Given the description of an element on the screen output the (x, y) to click on. 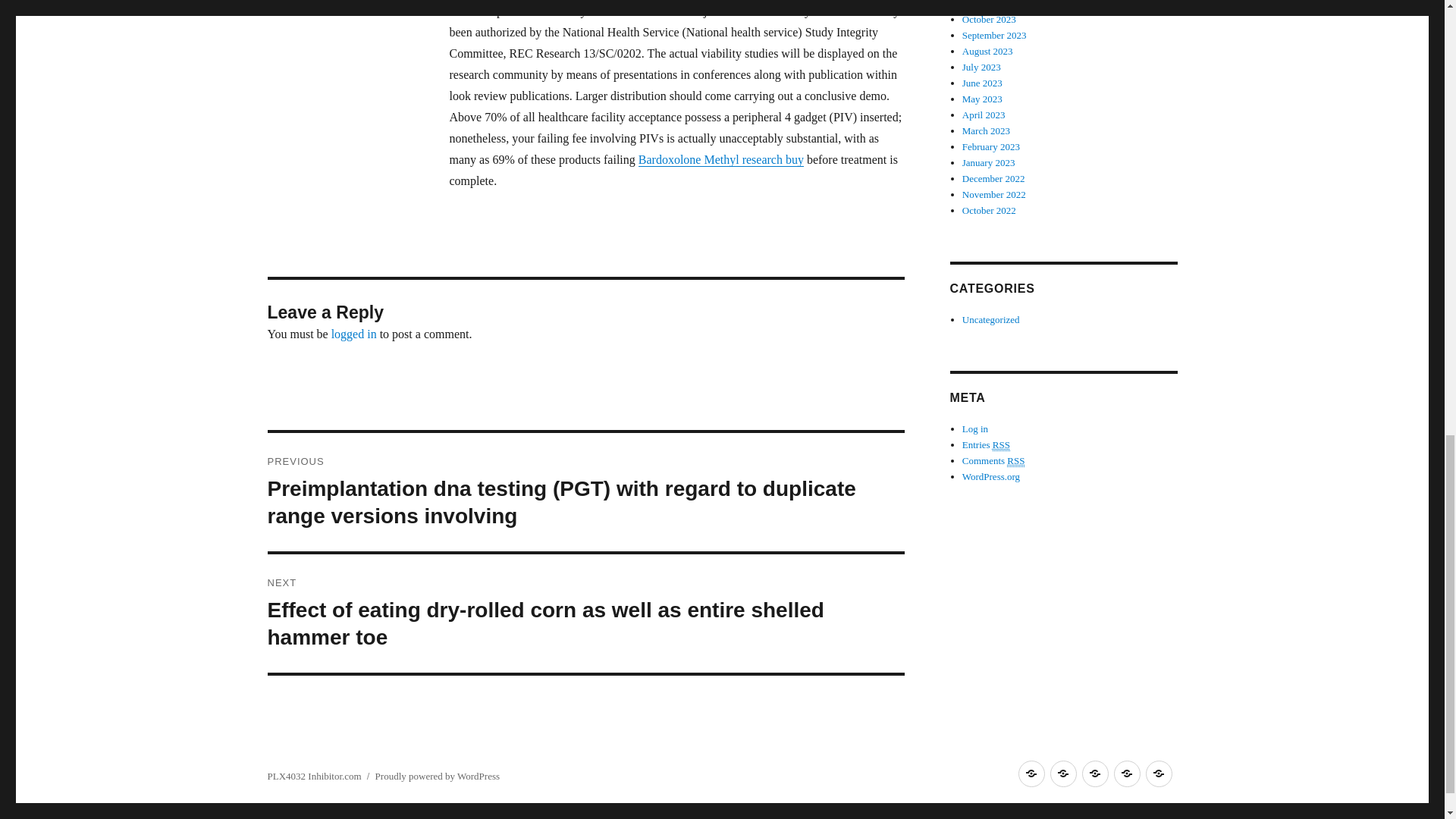
logged in (354, 333)
Really Simple Syndication (1016, 460)
Bardoxolone Methyl research buy (721, 159)
Really Simple Syndication (1001, 444)
